Given the description of an element on the screen output the (x, y) to click on. 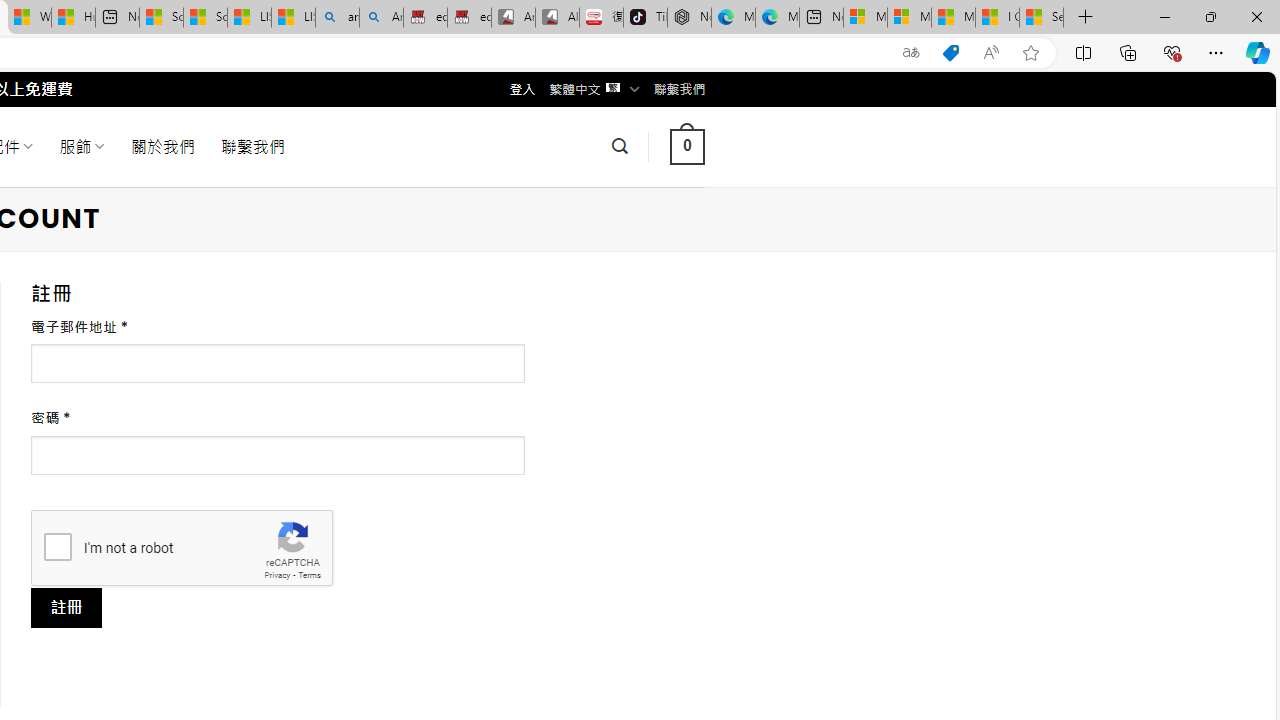
Terms (309, 575)
This site has coupons! Shopping in Microsoft Edge (950, 53)
Collections (1128, 52)
Microsoft Start (953, 17)
Settings and more (Alt+F) (1215, 52)
amazon - Search (337, 17)
Restore (1210, 16)
Split screen (1083, 52)
